Given the description of an element on the screen output the (x, y) to click on. 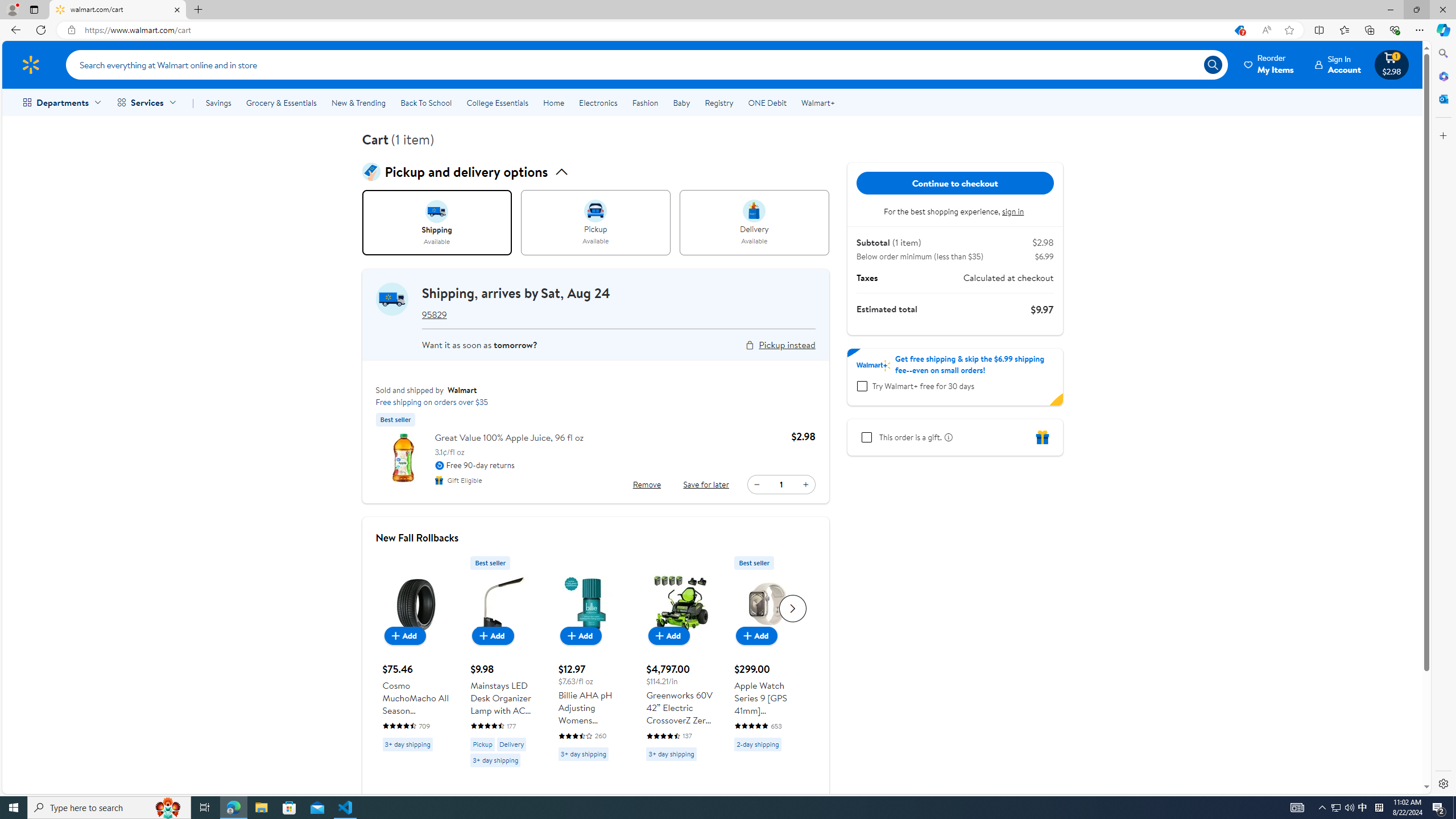
PICKUP, Available (595, 222)
95829 (433, 314)
Continue to checkout (955, 182)
walmart.com/cart (117, 9)
SHIPPING, Available, selected (436, 222)
New & Trending (358, 102)
Grocery & Essentials (280, 102)
Pickup and delivery options heading (595, 171)
